Given the description of an element on the screen output the (x, y) to click on. 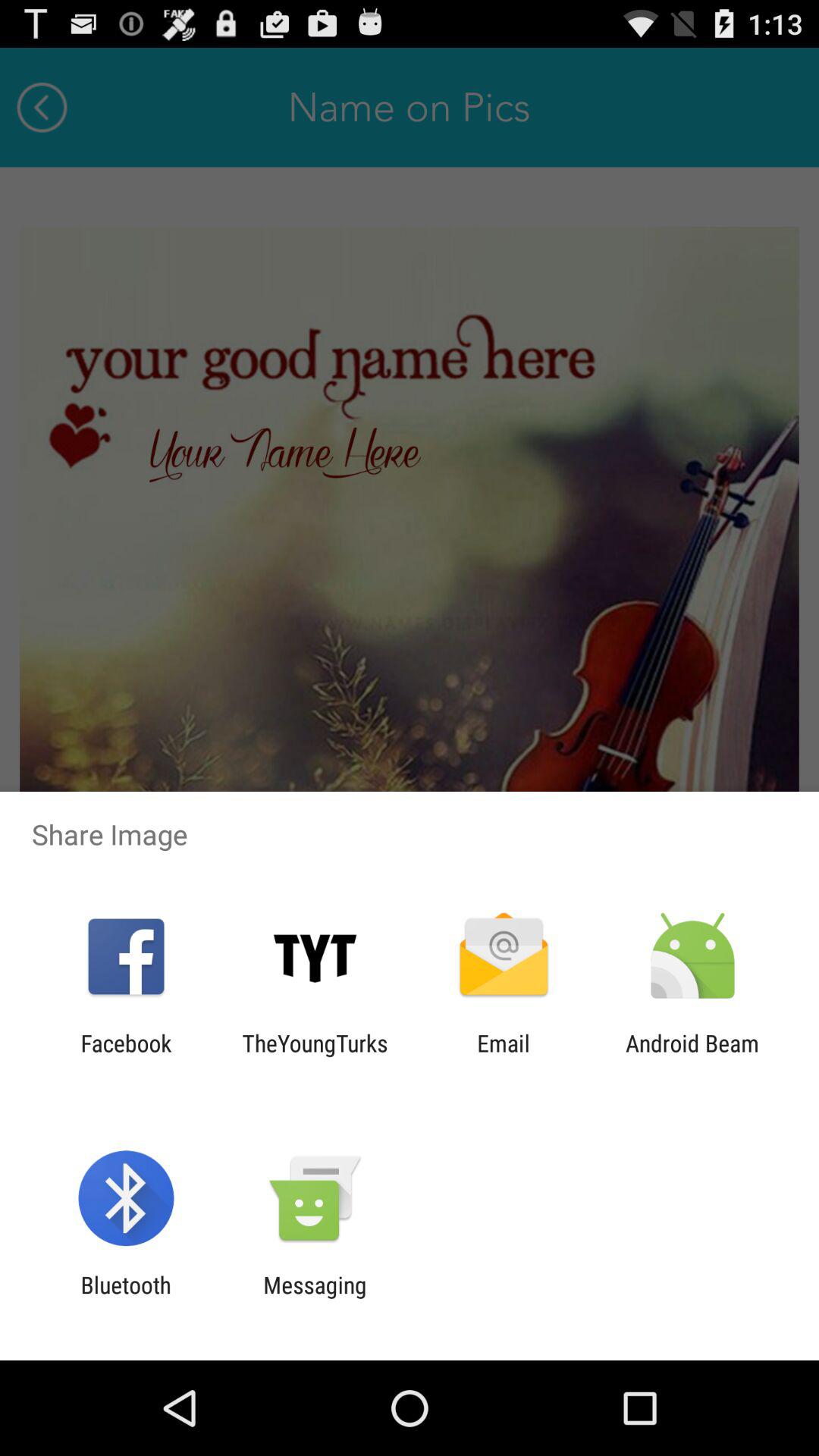
turn on the android beam icon (692, 1056)
